Given the description of an element on the screen output the (x, y) to click on. 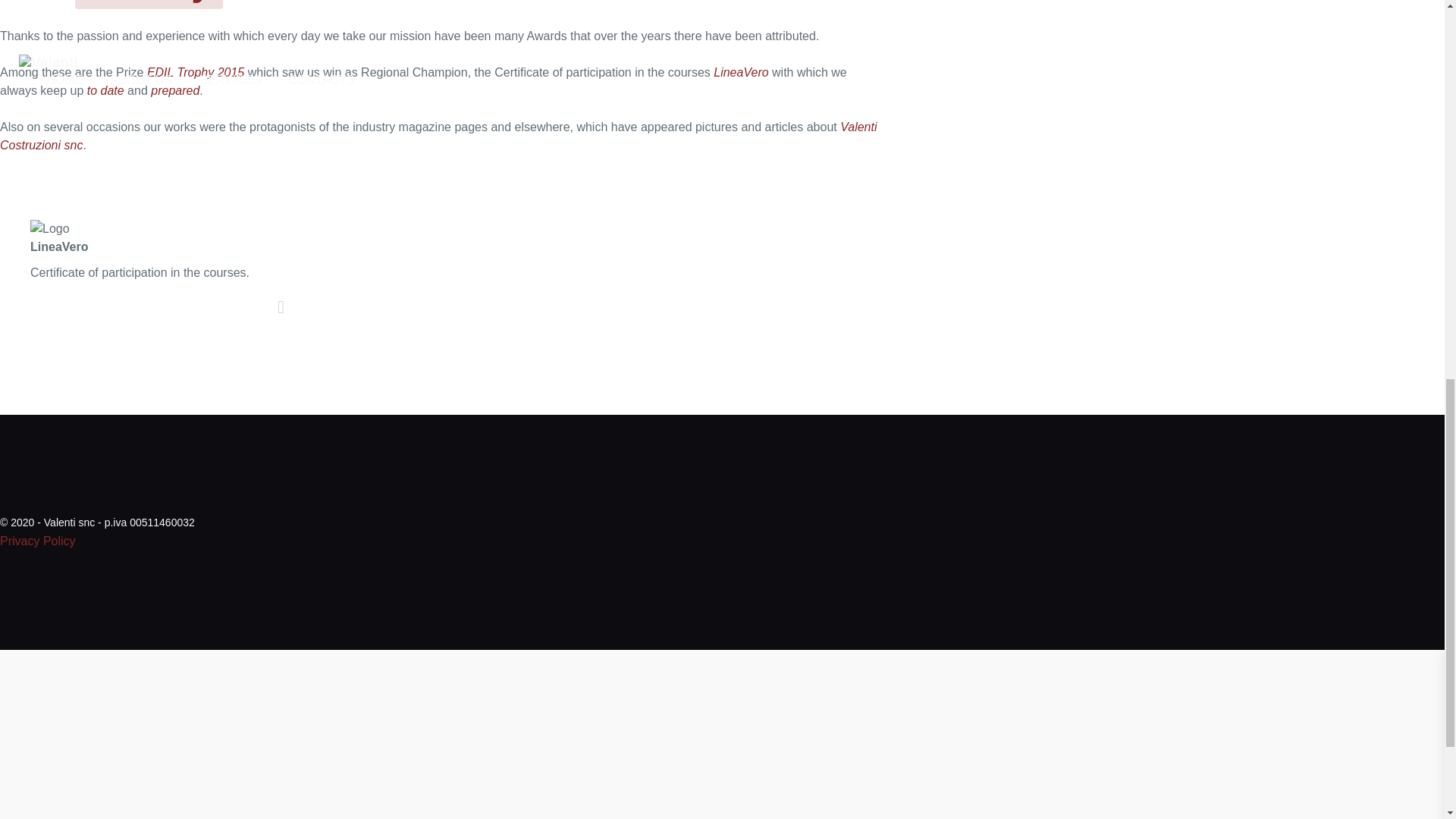
Privacy Policy (37, 540)
Privacy Policy (37, 540)
